Given the description of an element on the screen output the (x, y) to click on. 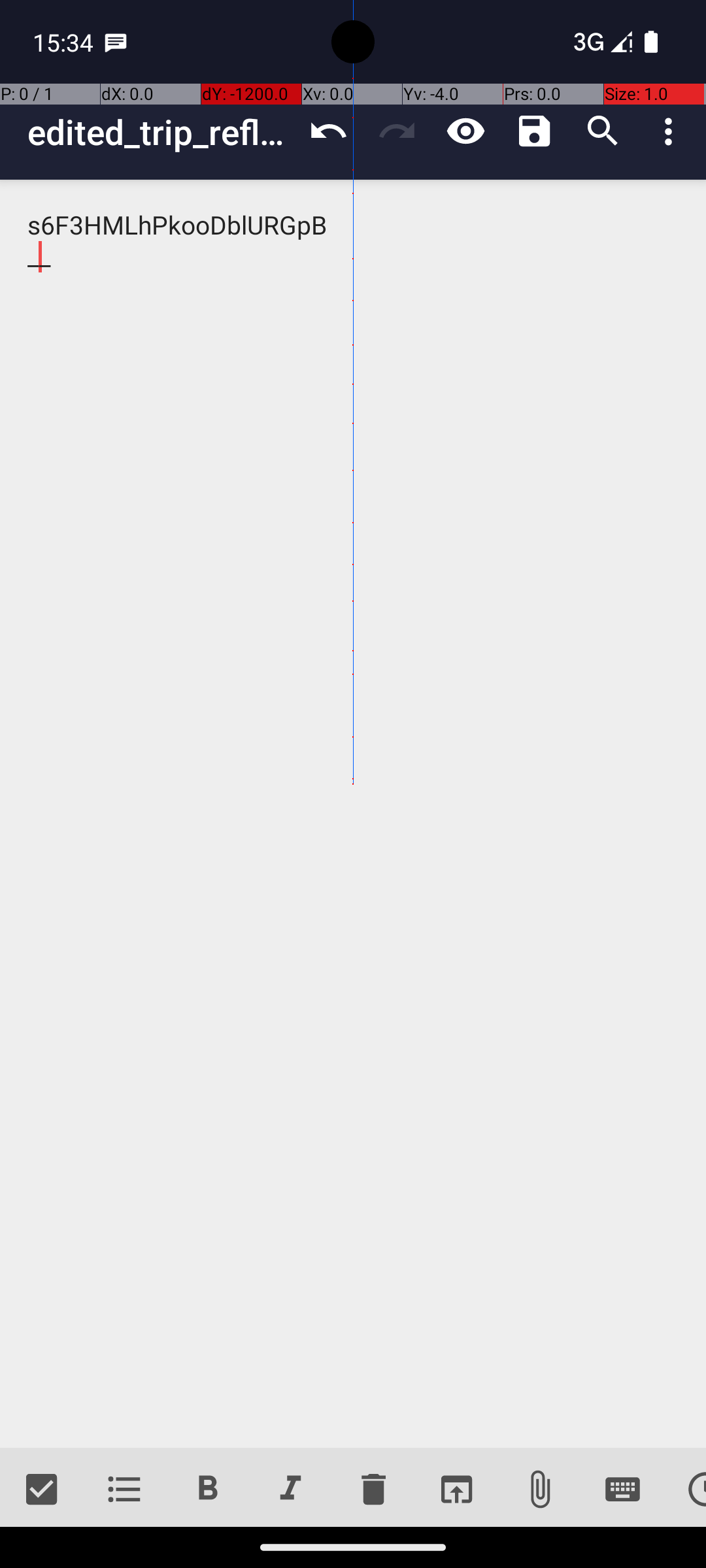
edited_trip_reflections_recent Element type: android.widget.TextView (160, 131)
s6F3HMLhPkooDblURGpB
__ Element type: android.widget.EditText (353, 813)
